Given the description of an element on the screen output the (x, y) to click on. 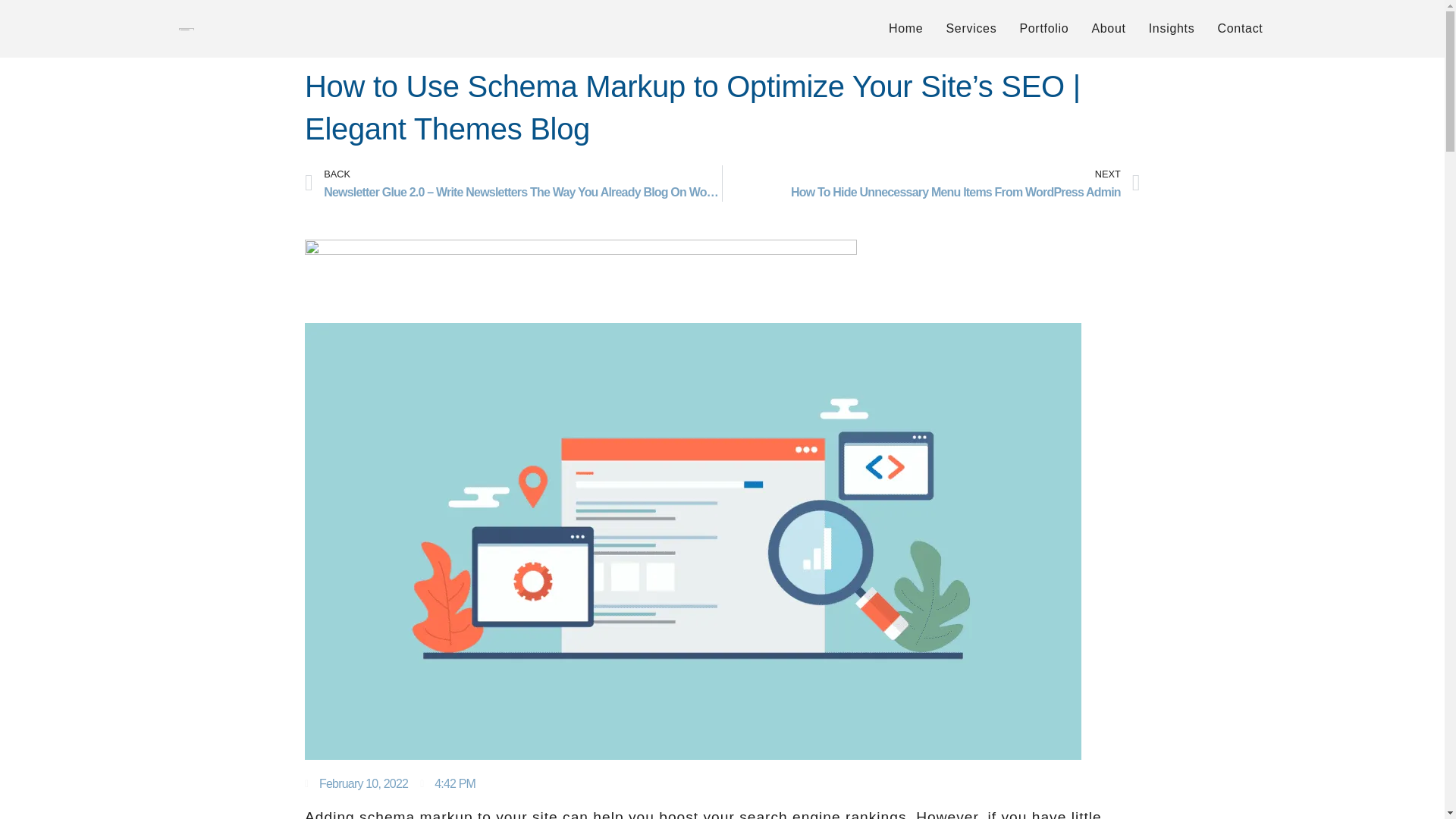
About (1108, 28)
Home (905, 28)
Services (970, 28)
Insights (1172, 28)
Portfolio (1043, 28)
Contact (1239, 28)
